Given the description of an element on the screen output the (x, y) to click on. 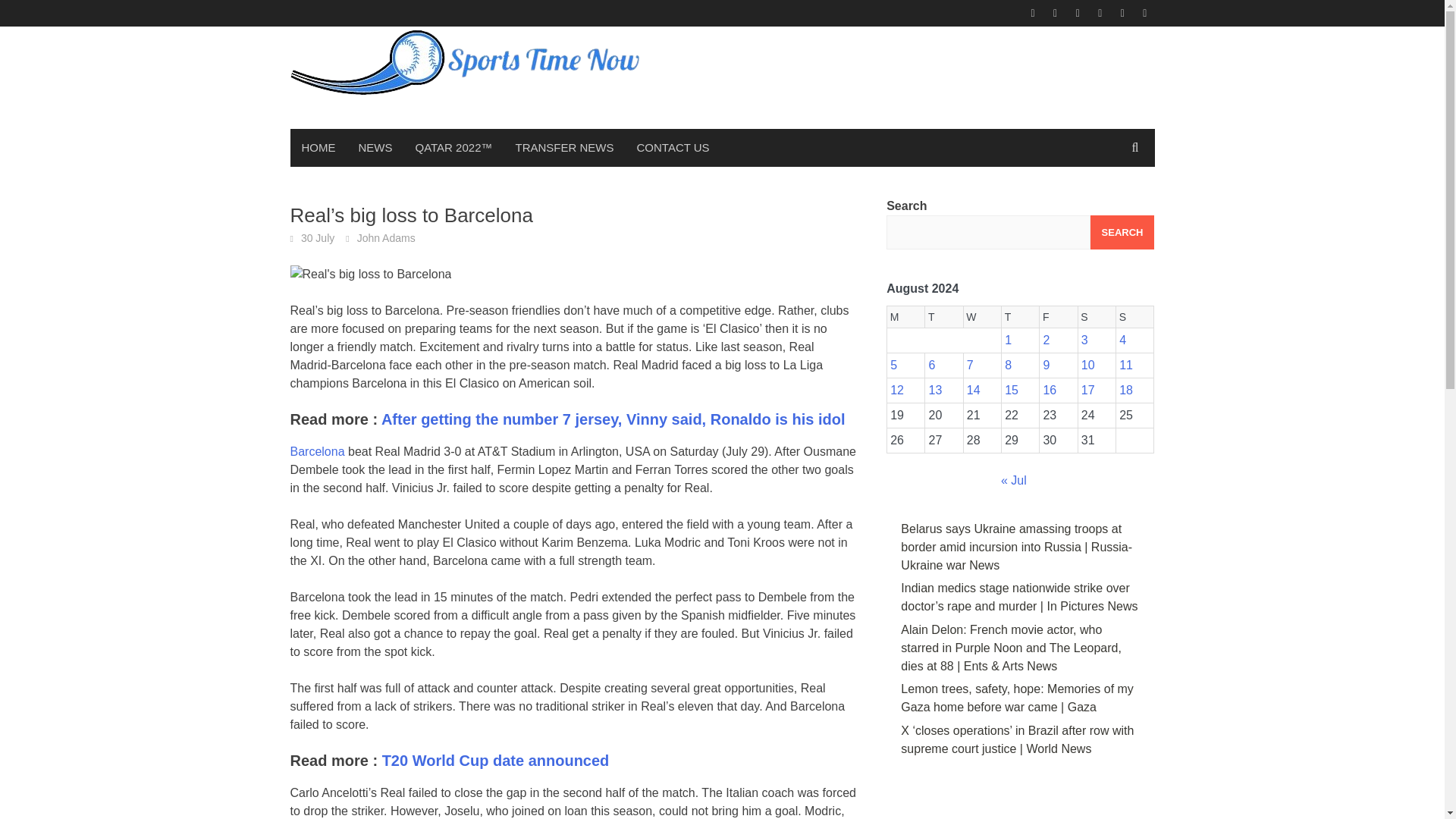
NEWS (375, 147)
HOME (317, 147)
10 (1087, 364)
SEARCH (1122, 232)
Wednesday (981, 317)
Tuesday (943, 317)
Monday (905, 317)
T20 World Cup date announced (495, 760)
15 (1010, 390)
14 (972, 390)
